Given the description of an element on the screen output the (x, y) to click on. 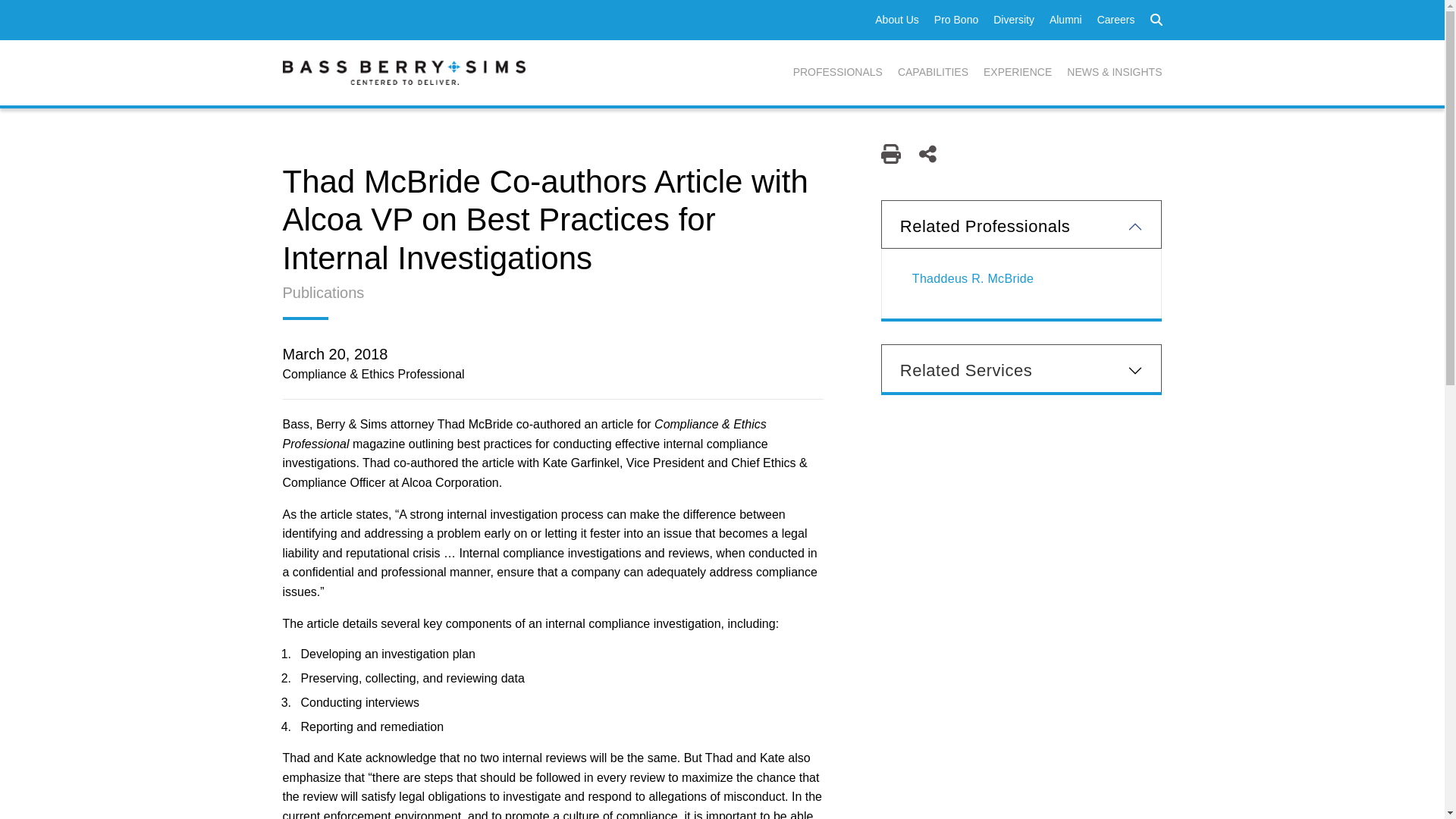
PROFESSIONALS (837, 72)
Alumni (1065, 19)
Careers (1116, 19)
EXPERIENCE (1017, 72)
CAPABILITIES (933, 72)
Diversity (1012, 19)
Pro Bono (956, 19)
About Us (896, 19)
